Given the description of an element on the screen output the (x, y) to click on. 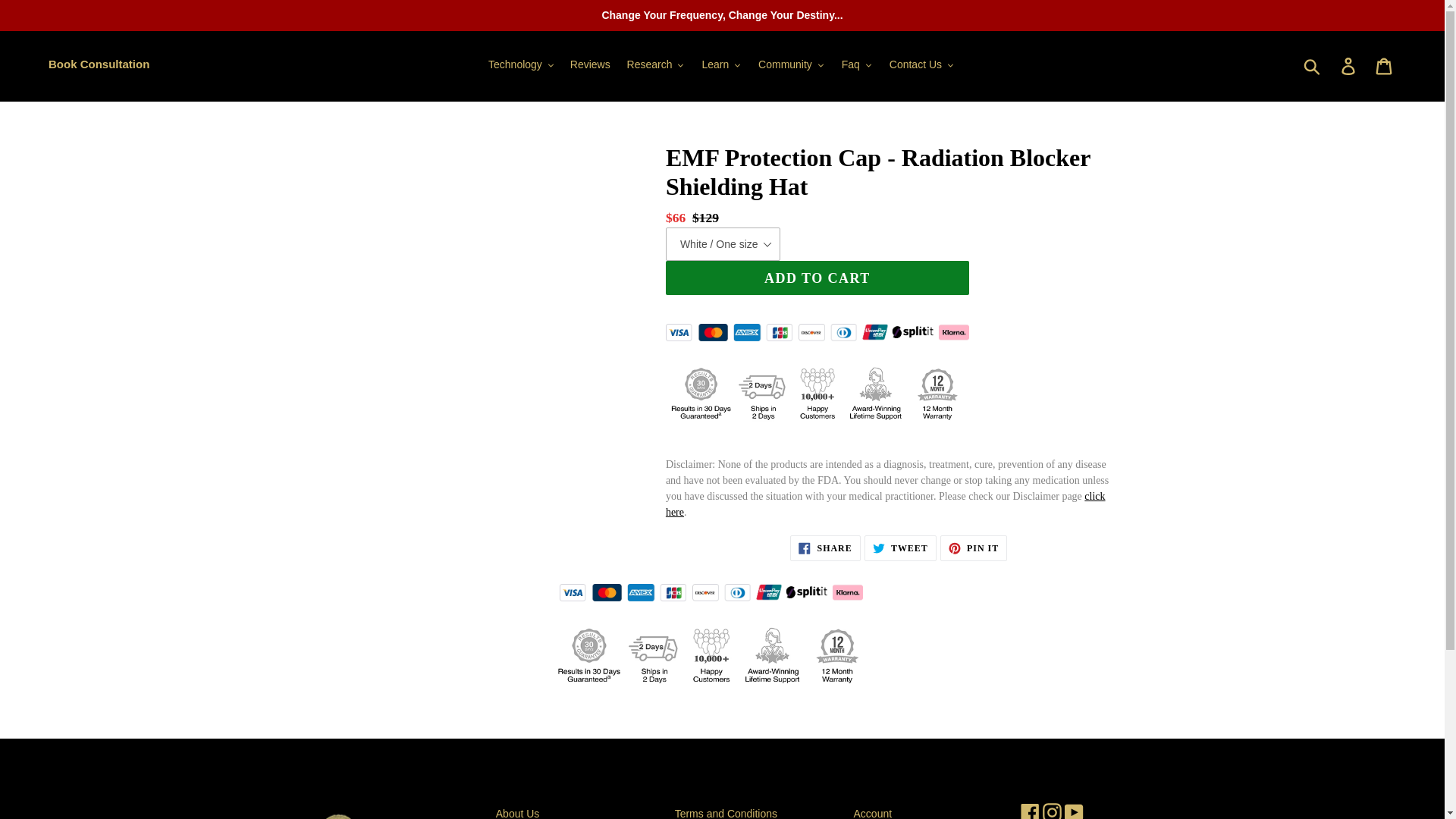
Book Consultation (98, 63)
Change Your Frequency, Change Your Destiny... (722, 15)
